Given the description of an element on the screen output the (x, y) to click on. 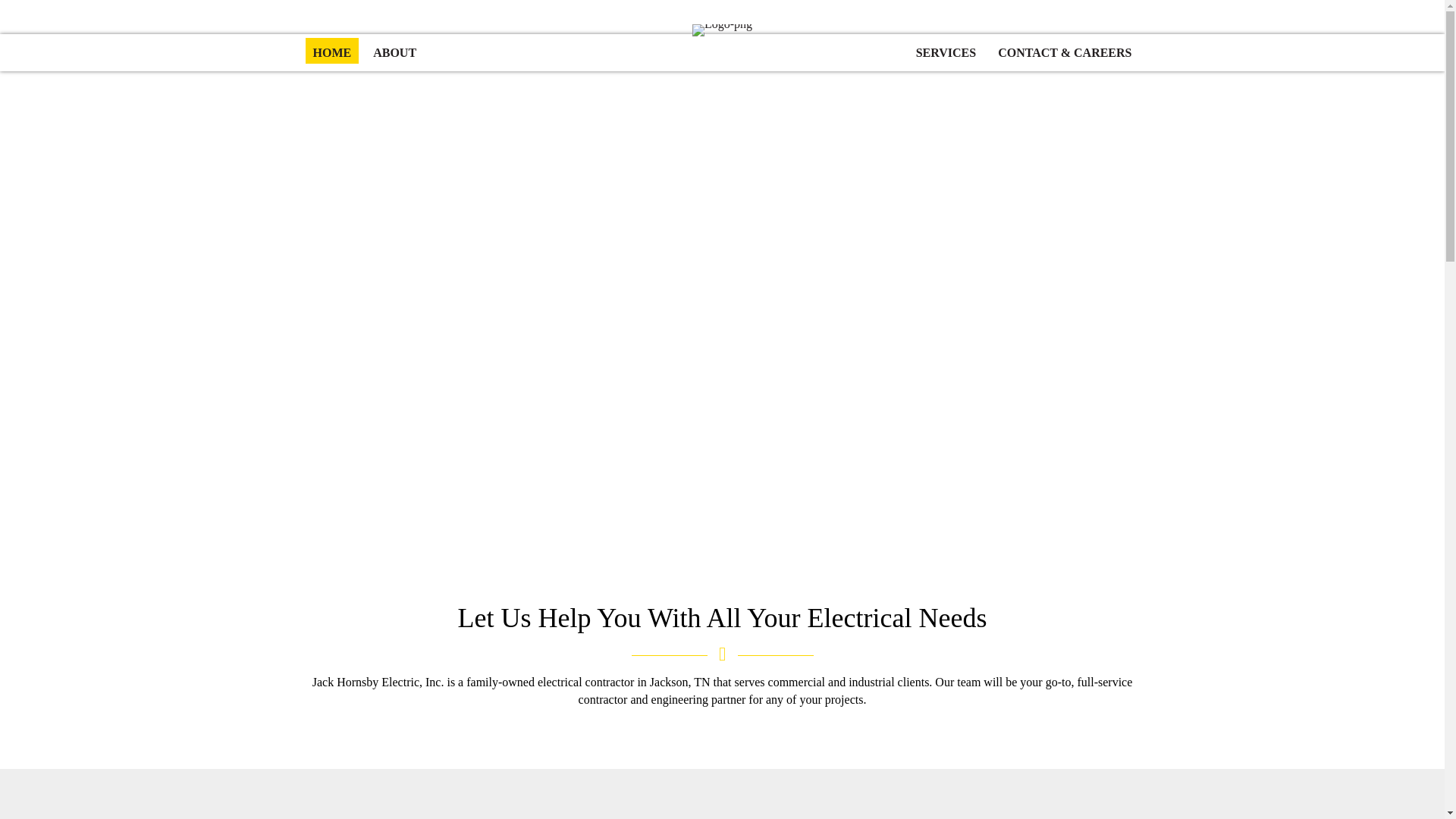
Logo-png (722, 30)
HOME (331, 50)
ABOUT (394, 50)
SERVICES (946, 50)
